Given the description of an element on the screen output the (x, y) to click on. 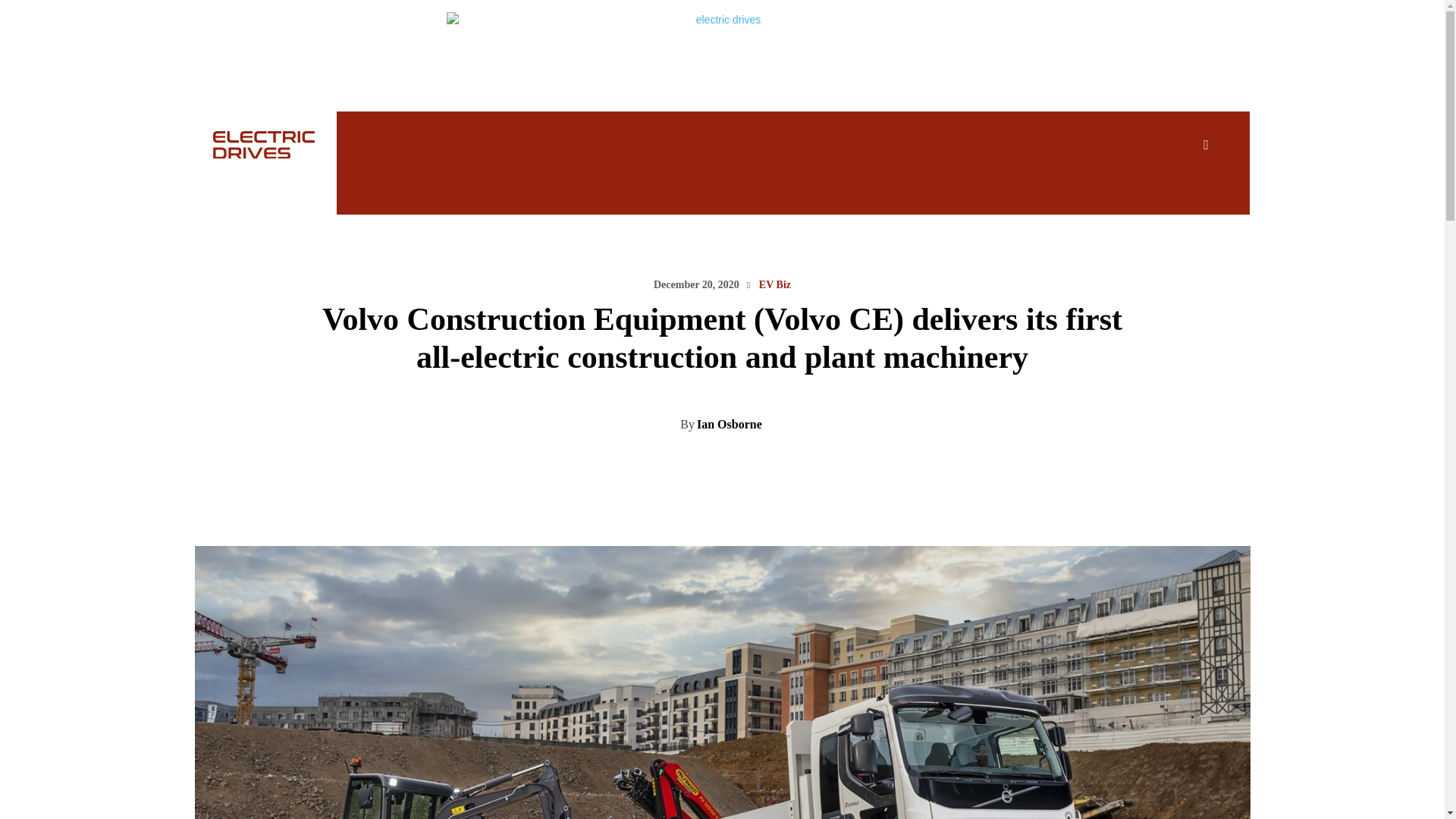
Elecctric Drives (246, 144)
